Given the description of an element on the screen output the (x, y) to click on. 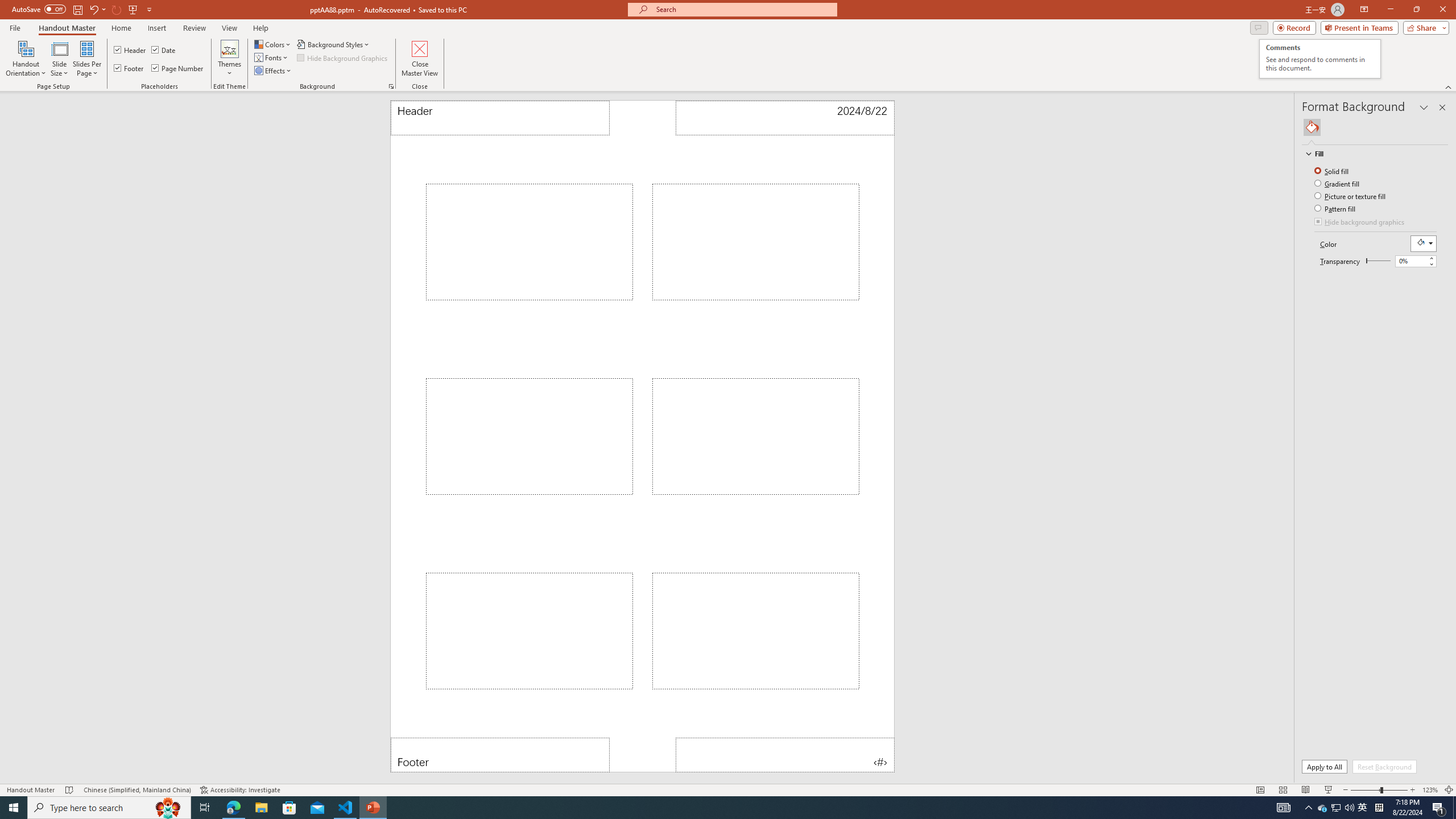
Picture or texture fill (1350, 195)
Page right (1379, 260)
